Given the description of an element on the screen output the (x, y) to click on. 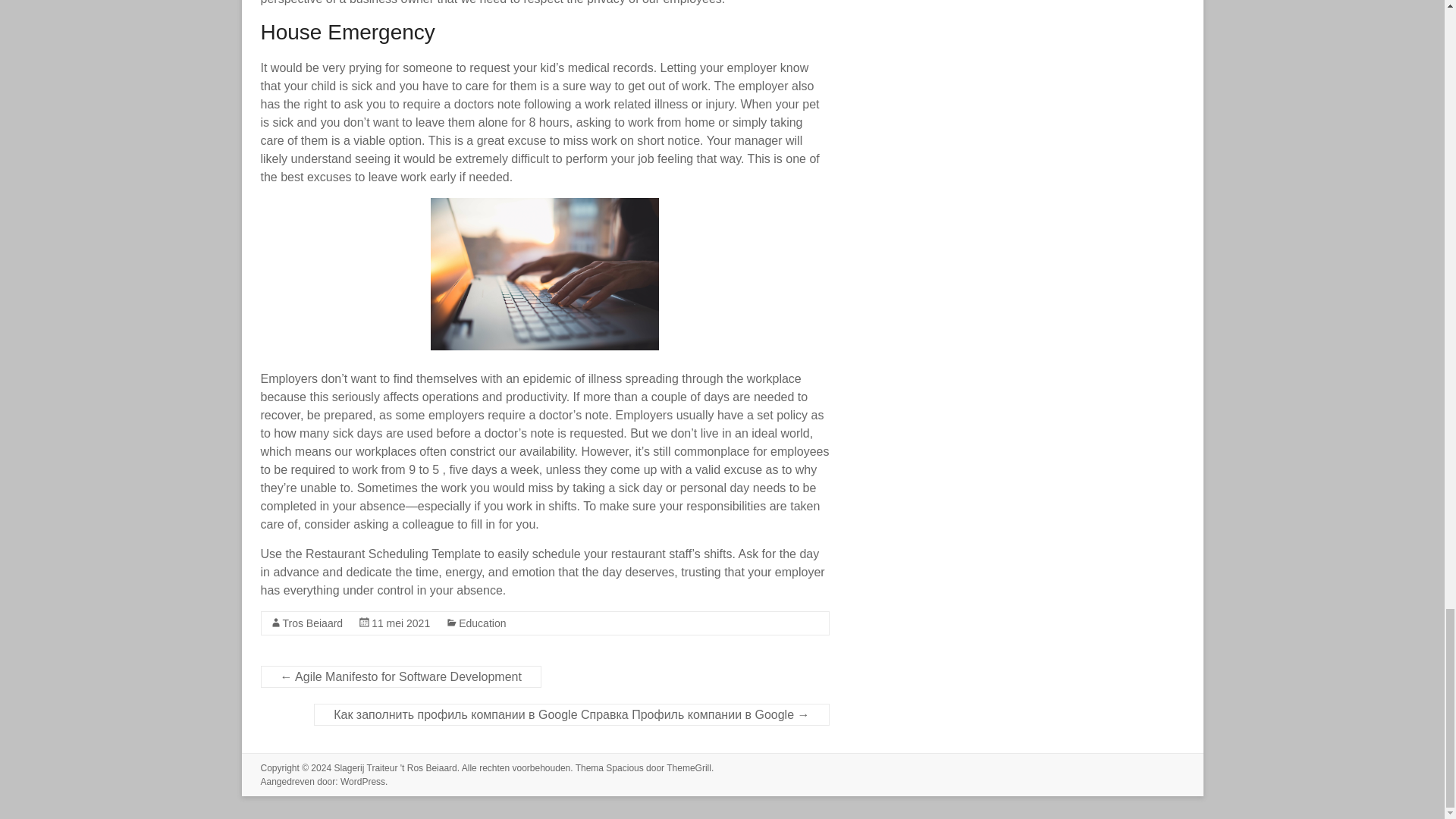
Slagerij Traiteur 't Ros Beiaard (395, 767)
WordPress (362, 781)
Tros Beiaard (312, 623)
Spacious (624, 767)
Slagerij Traiteur 't Ros Beiaard (395, 767)
12:38 (400, 623)
Education (481, 623)
Spacious (624, 767)
WordPress (362, 781)
11 mei 2021 (400, 623)
